Given the description of an element on the screen output the (x, y) to click on. 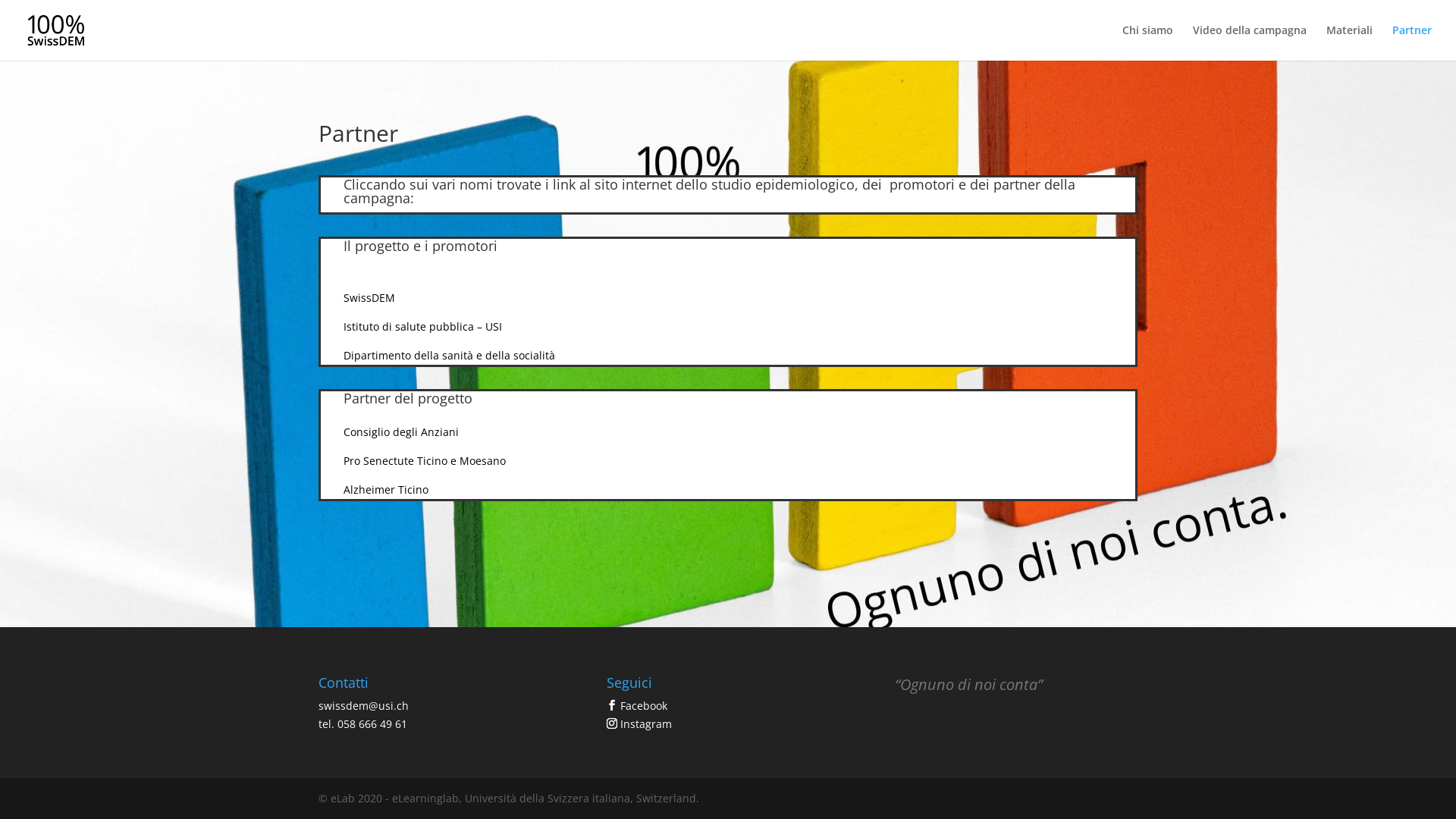
Partner Element type: text (1411, 42)
Video della campagna Element type: text (1249, 42)
SwissDEM Element type: text (369, 297)
Pro Senectute Ticino e Moesano Element type: text (424, 460)
Facebook Element type: text (636, 705)
swissdem@usi.ch Element type: text (363, 705)
Instagram Element type: text (638, 724)
Chi siamo Element type: text (1147, 42)
Materiali Element type: text (1349, 42)
Alzheimer Ticino Element type: text (385, 489)
Consiglio degli Anziani Element type: text (400, 431)
